Given the description of an element on the screen output the (x, y) to click on. 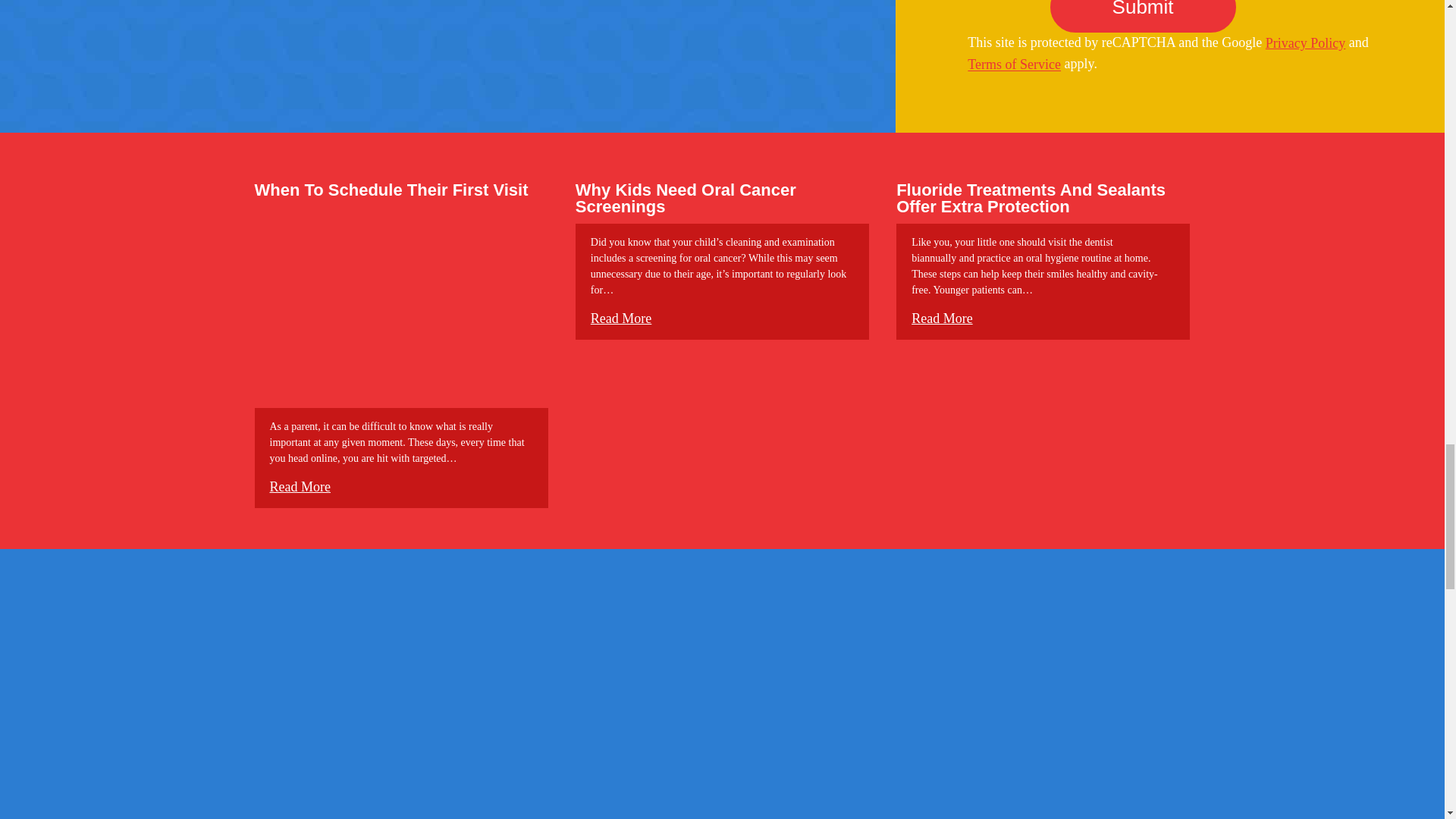
Submit (1142, 16)
